Given the description of an element on the screen output the (x, y) to click on. 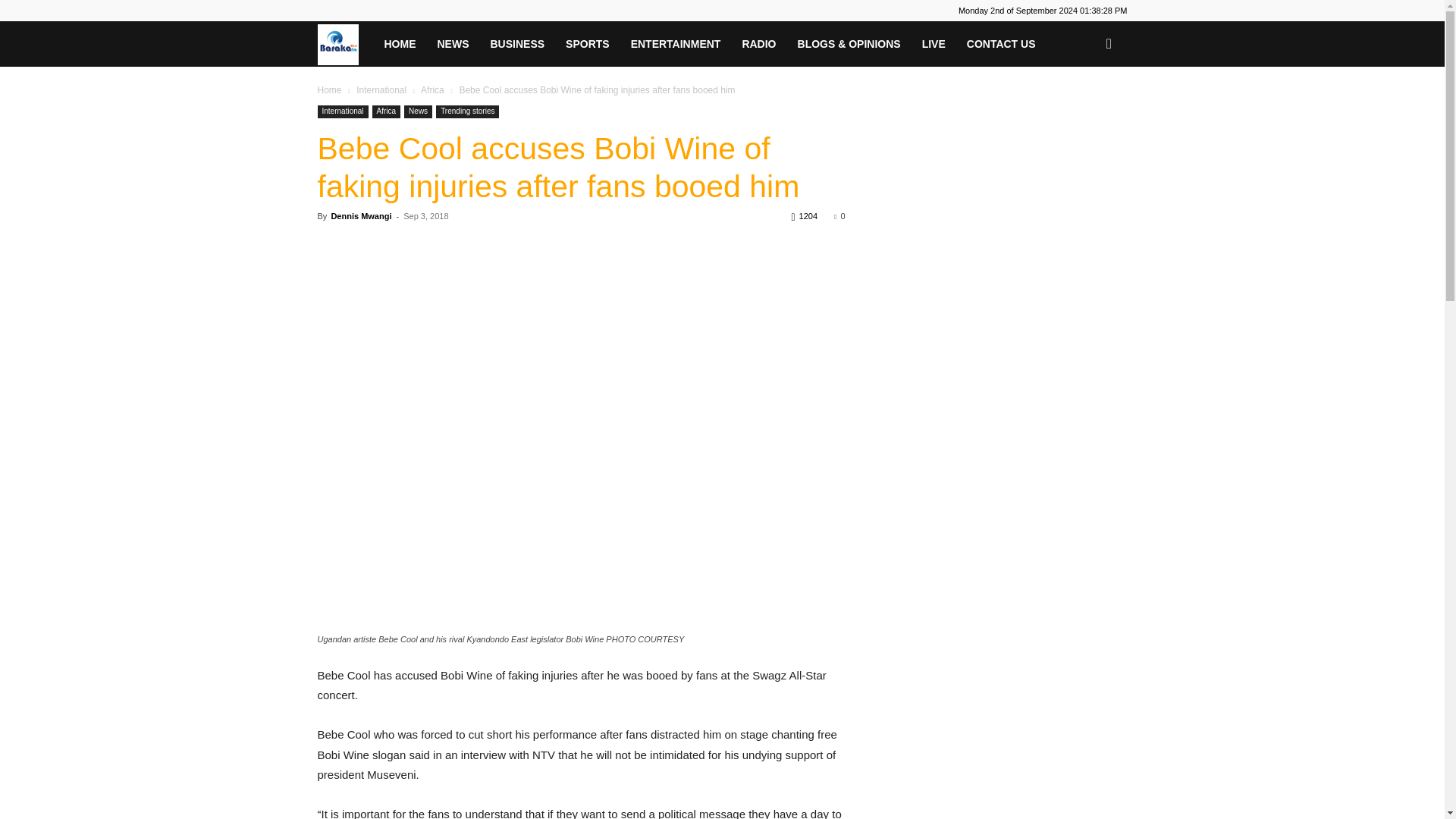
HOME (399, 43)
Baraka FM 95.5 (344, 43)
NEWS (452, 43)
